Given the description of an element on the screen output the (x, y) to click on. 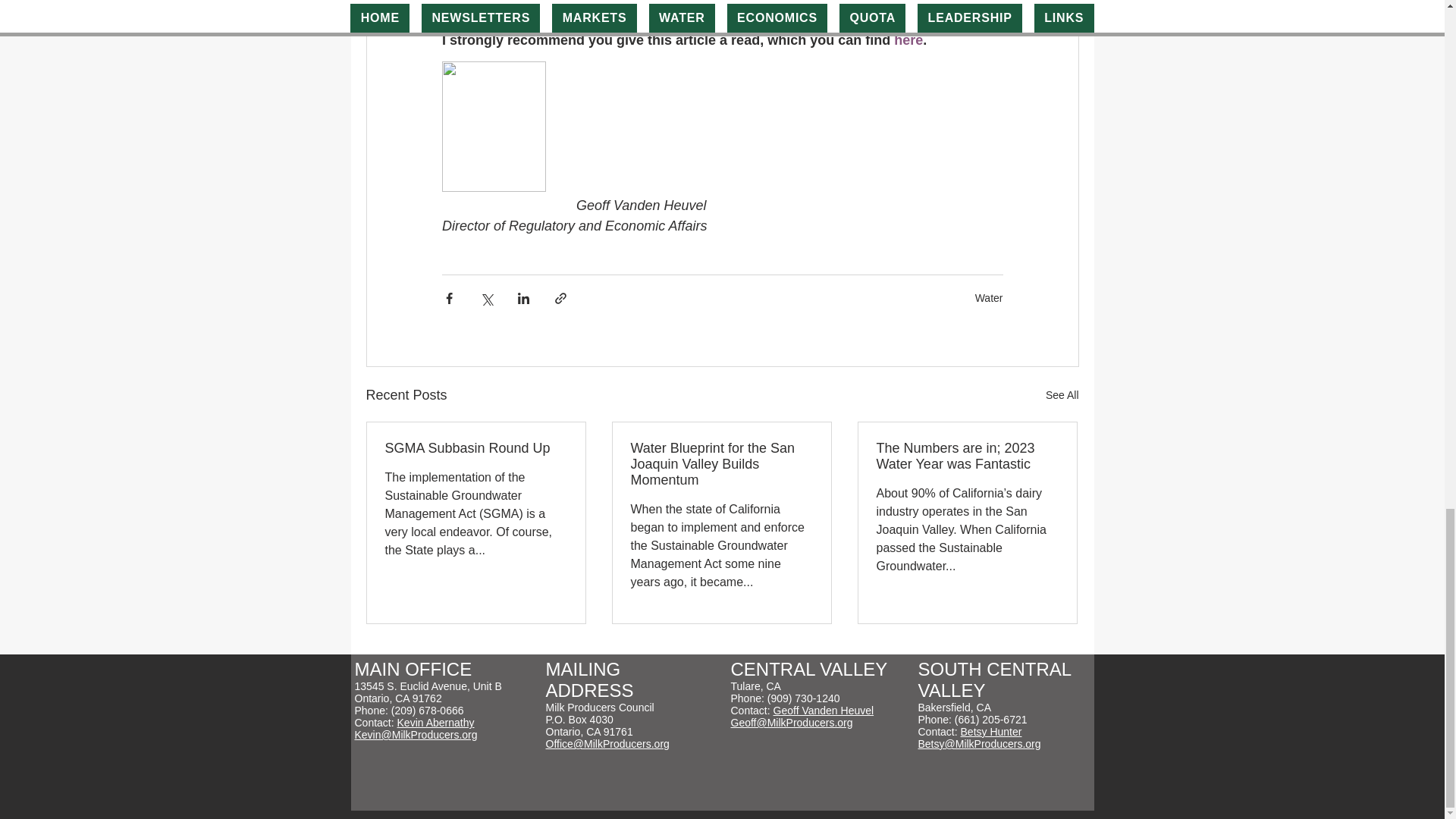
SGMA Subbasin Round Up (476, 448)
HOME (394, 670)
Water (989, 297)
See All (1061, 395)
Water Blueprint for the San Joaquin Valley Builds Momentum (721, 464)
here (908, 39)
The Numbers are in; 2023 Water Year was Fantastic (967, 456)
